Given the description of an element on the screen output the (x, y) to click on. 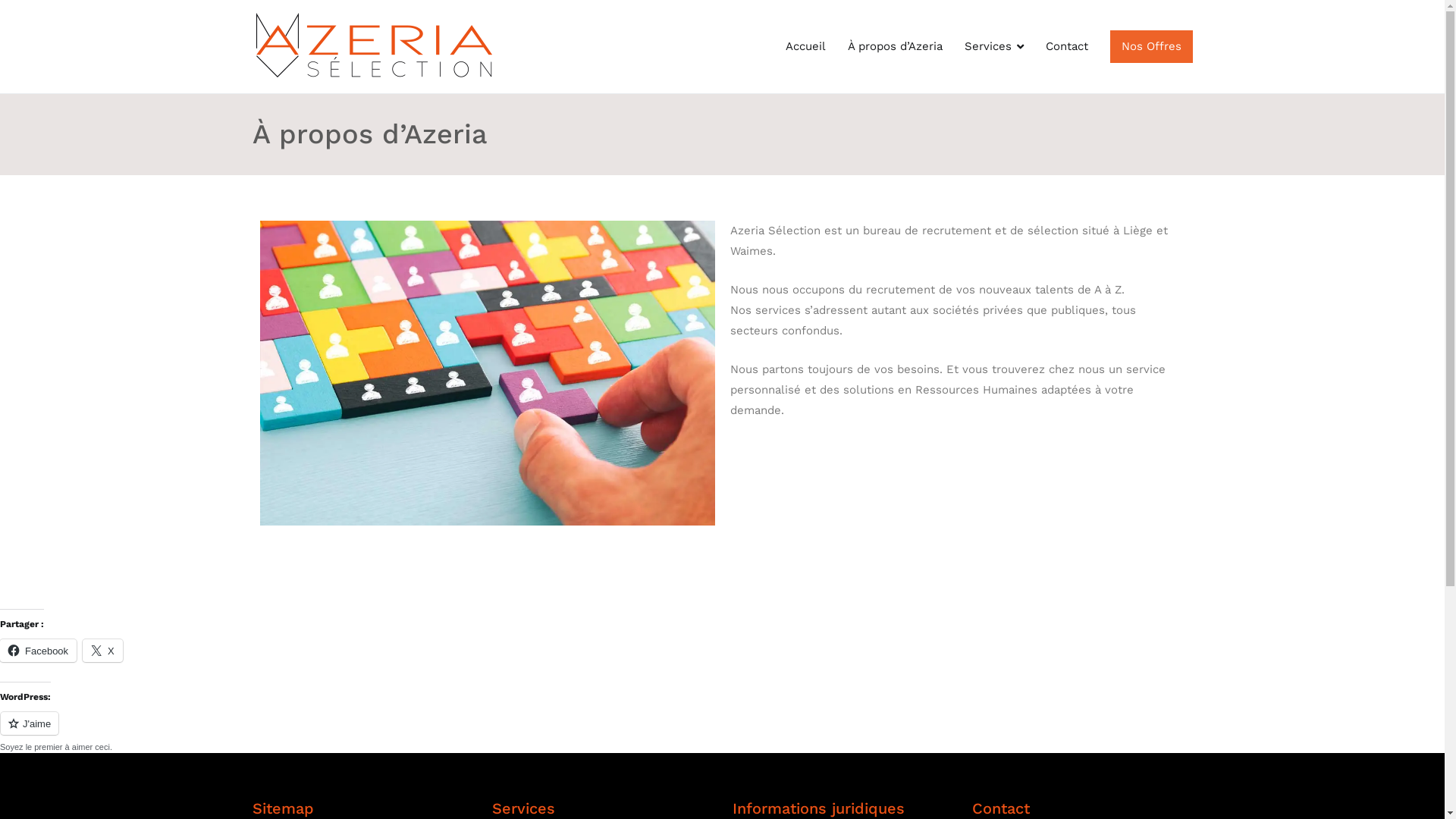
Services Element type: text (993, 46)
Nos Offres Element type: text (1151, 46)
Accueil Element type: text (805, 46)
X Element type: text (102, 649)
Contact Element type: text (1066, 46)
Like or Reblog Element type: hover (722, 732)
Facebook Element type: text (38, 649)
